Given the description of an element on the screen output the (x, y) to click on. 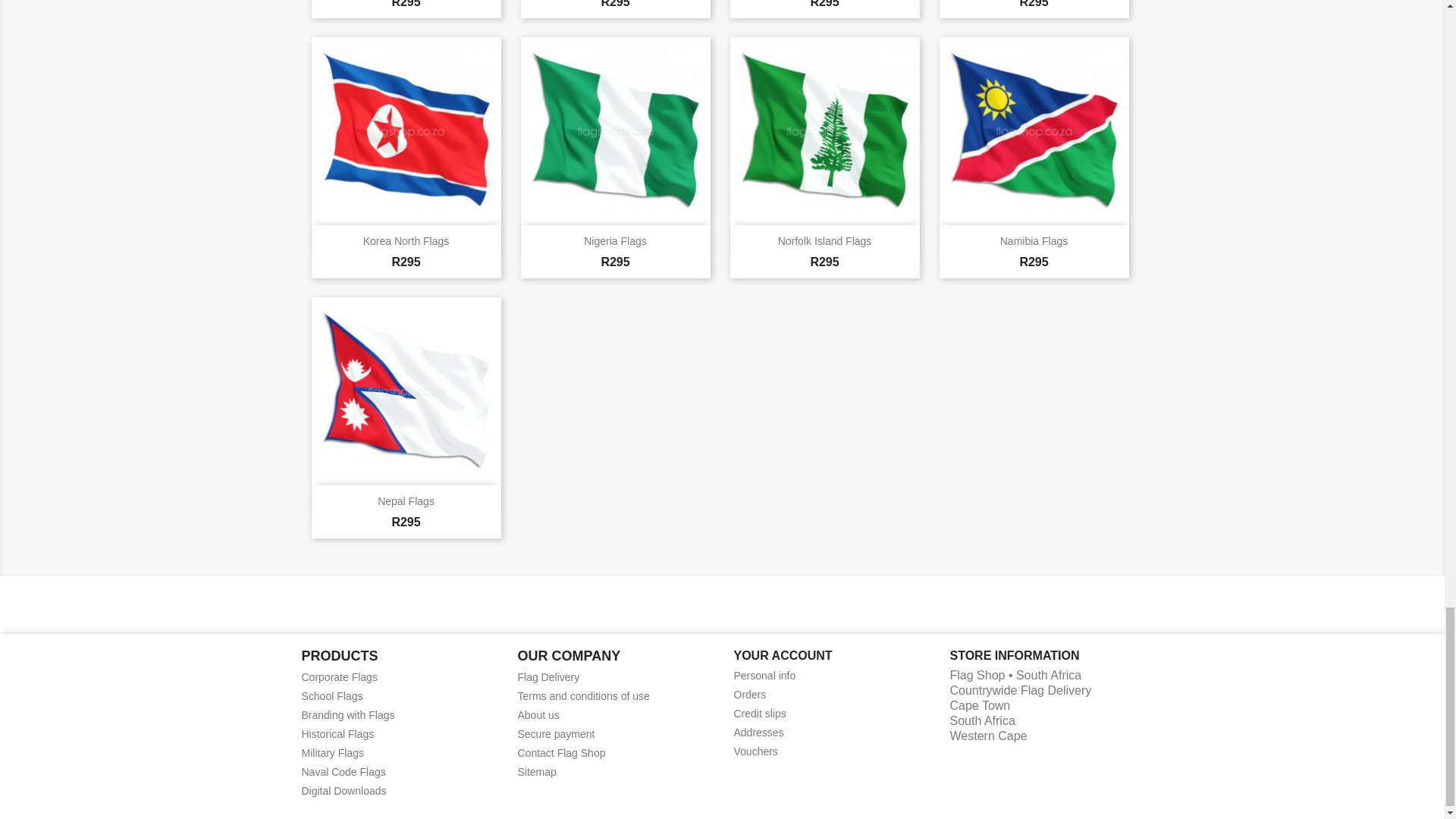
Flag Shop terms and conditions of use (582, 695)
